Given the description of an element on the screen output the (x, y) to click on. 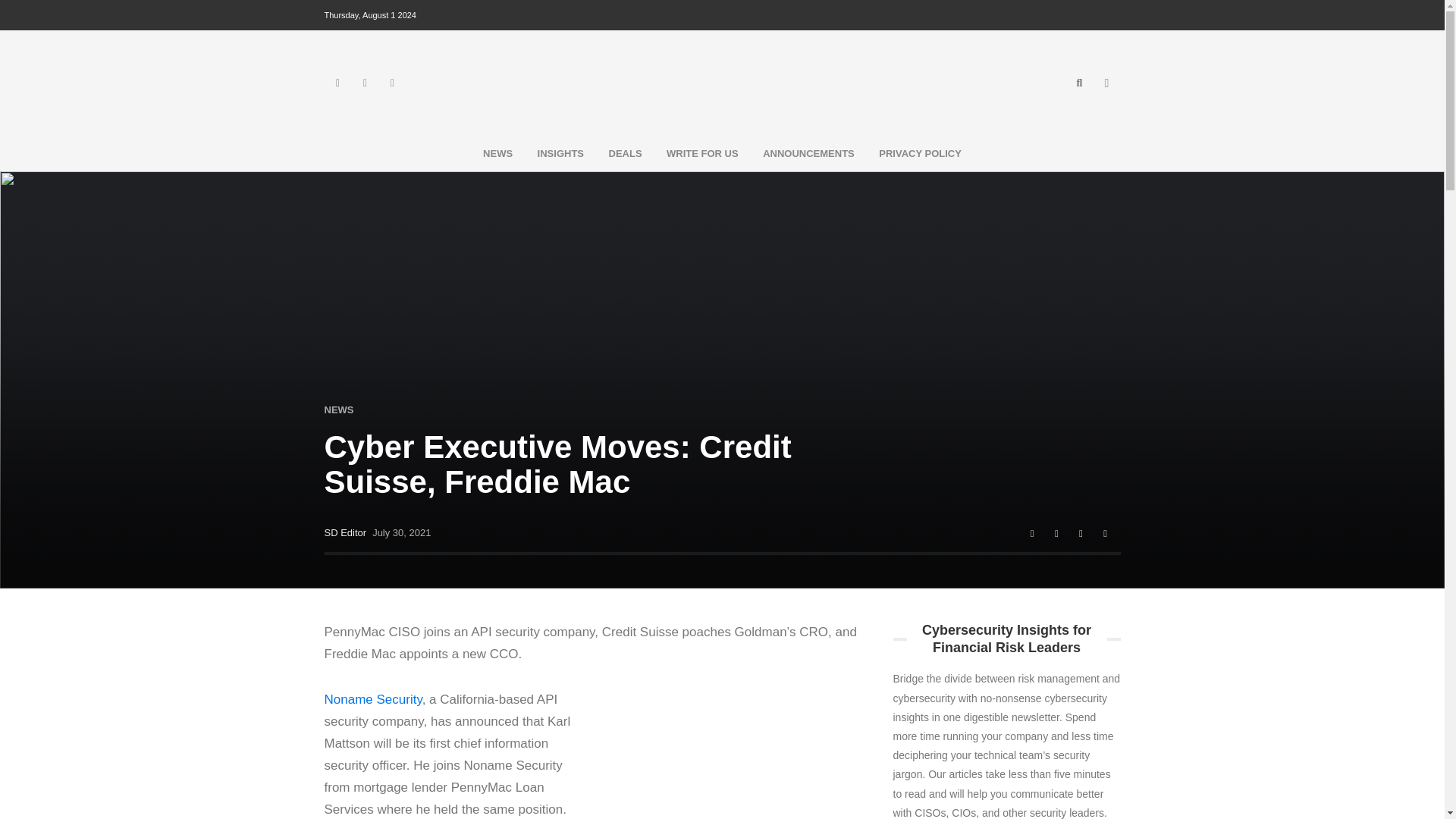
ANNOUNCEMENTS (808, 153)
PRIVACY POLICY (920, 153)
WRITE FOR US (702, 153)
DEALS (624, 153)
Noname Security (373, 699)
INSIGHTS (559, 153)
NEWS (338, 409)
SD Editor (345, 532)
NEWS (497, 153)
